Given the description of an element on the screen output the (x, y) to click on. 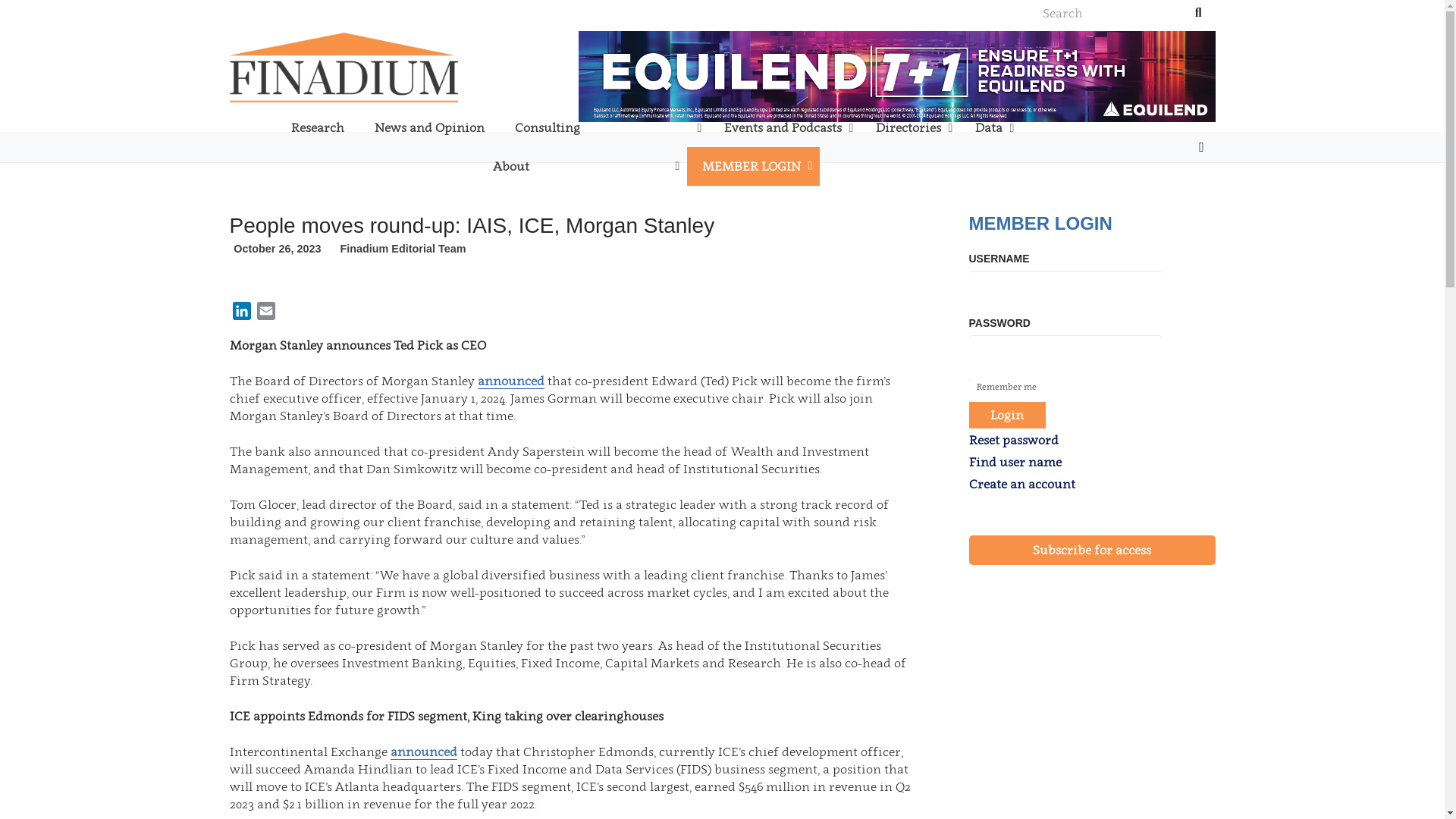
News and Opinion (429, 127)
Finadium Editorial Team (402, 248)
Email (265, 313)
LinkedIn (240, 313)
Login (865, 442)
Data (990, 127)
About (582, 166)
Research (317, 127)
Events and Podcasts (784, 127)
Login (1007, 415)
LinkedIn (1201, 146)
Consulting (604, 127)
Directories (909, 127)
